Given the description of an element on the screen output the (x, y) to click on. 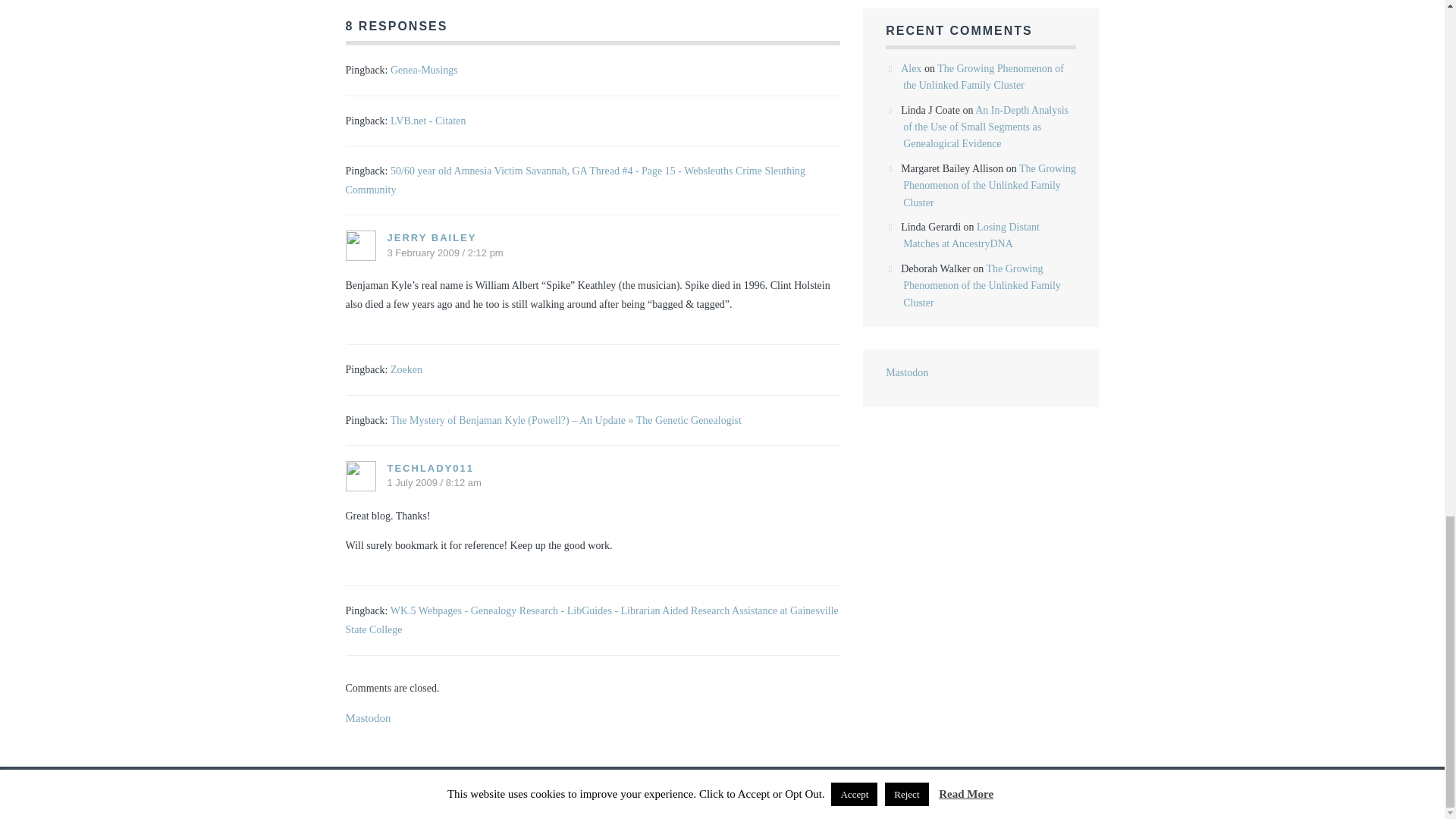
TECHLADY011 (430, 468)
JERRY BAILEY (431, 237)
Zoeken (406, 369)
Genea-Musings (424, 70)
LVB.net - Citaten (427, 120)
